Given the description of an element on the screen output the (x, y) to click on. 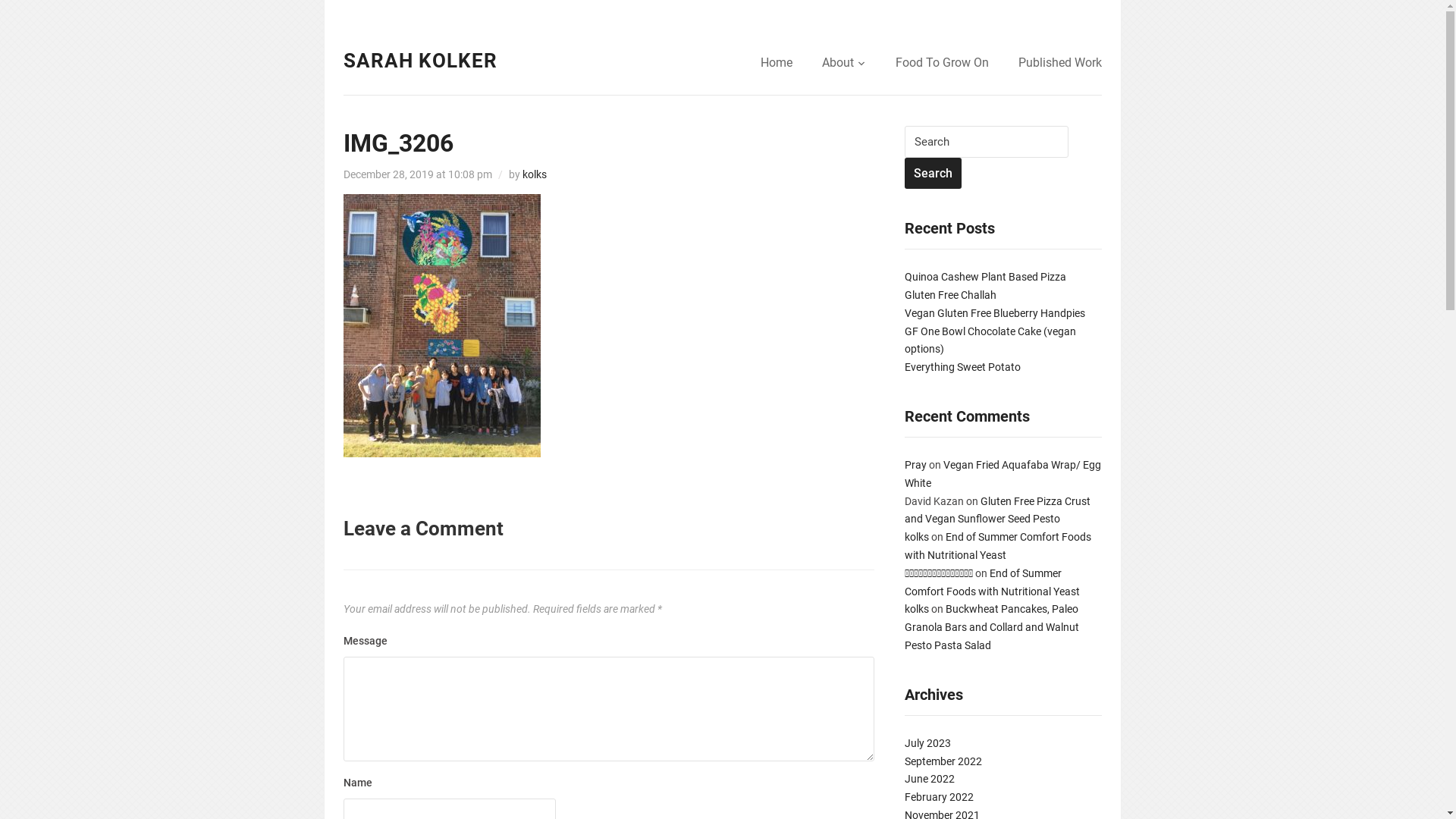
Gluten Free Pizza Crust and Vegan Sunflower Seed Pesto Element type: text (996, 510)
IMG_3206 Element type: text (397, 142)
Vegan Gluten Free Blueberry Handpies Element type: text (993, 313)
kolks Element type: text (533, 174)
End of Summer Comfort Foods with Nutritional Yeast Element type: text (991, 582)
GF One Bowl Chocolate Cake (vegan options) Element type: text (989, 340)
July 2023 Element type: text (926, 743)
February 2022 Element type: text (937, 796)
kolks Element type: text (915, 608)
Food To Grow On Element type: text (941, 64)
June 2022 Element type: text (928, 778)
Published Work Element type: text (1059, 64)
Everything Sweet Potato Element type: text (961, 366)
Home Element type: text (775, 64)
kolks Element type: text (915, 536)
SARAH KOLKER Element type: text (419, 60)
Gluten Free Challah Element type: text (949, 294)
Pray Element type: text (914, 464)
Search Element type: text (931, 173)
September 2022 Element type: text (942, 761)
About Element type: text (844, 64)
Vegan Fried Aquafaba Wrap/ Egg White Element type: text (1001, 473)
End of Summer Comfort Foods with Nutritional Yeast Element type: text (996, 545)
Quinoa Cashew Plant Based Pizza Element type: text (984, 276)
